Given the description of an element on the screen output the (x, y) to click on. 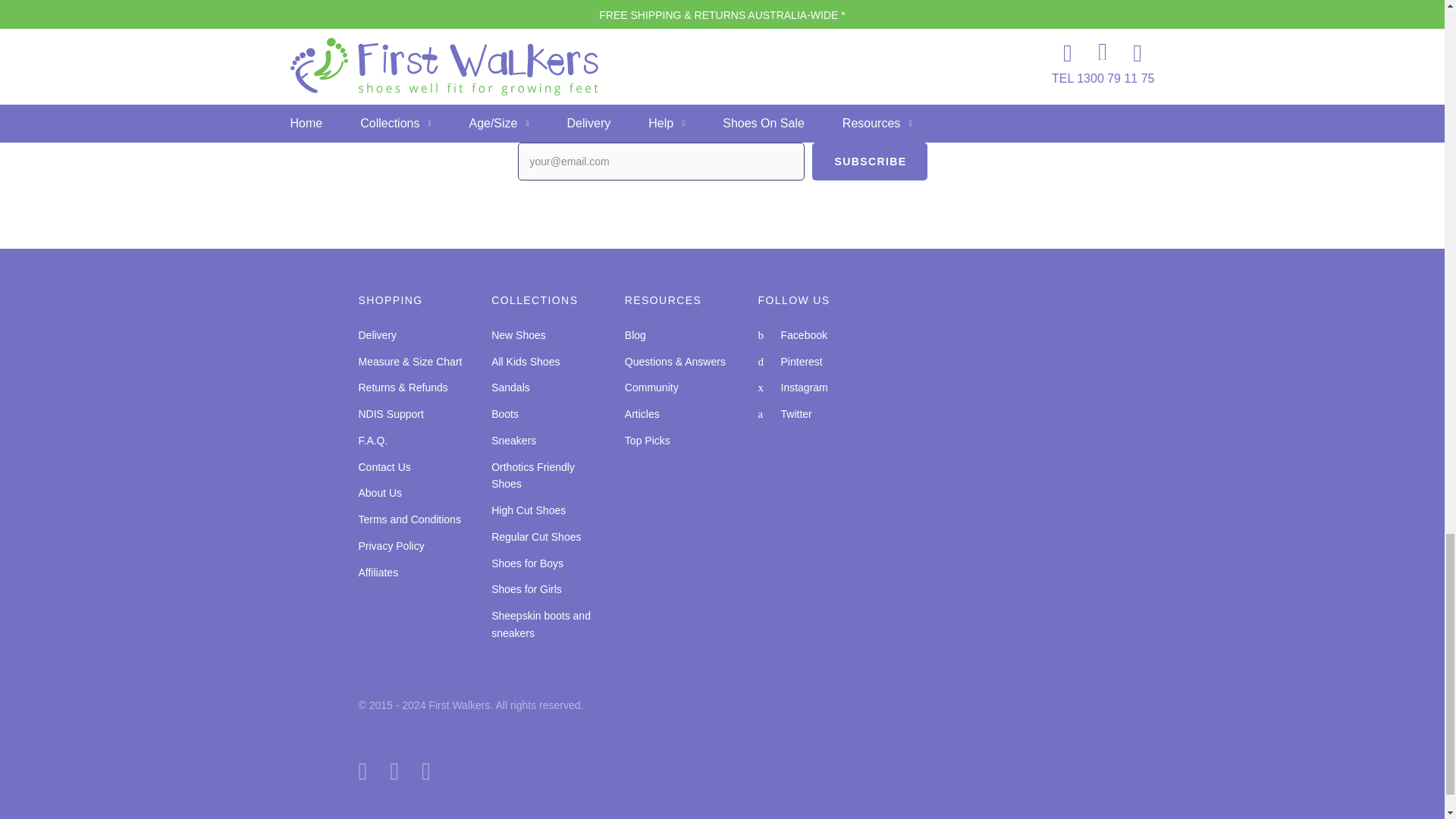
Subscribe (868, 161)
